Given the description of an element on the screen output the (x, y) to click on. 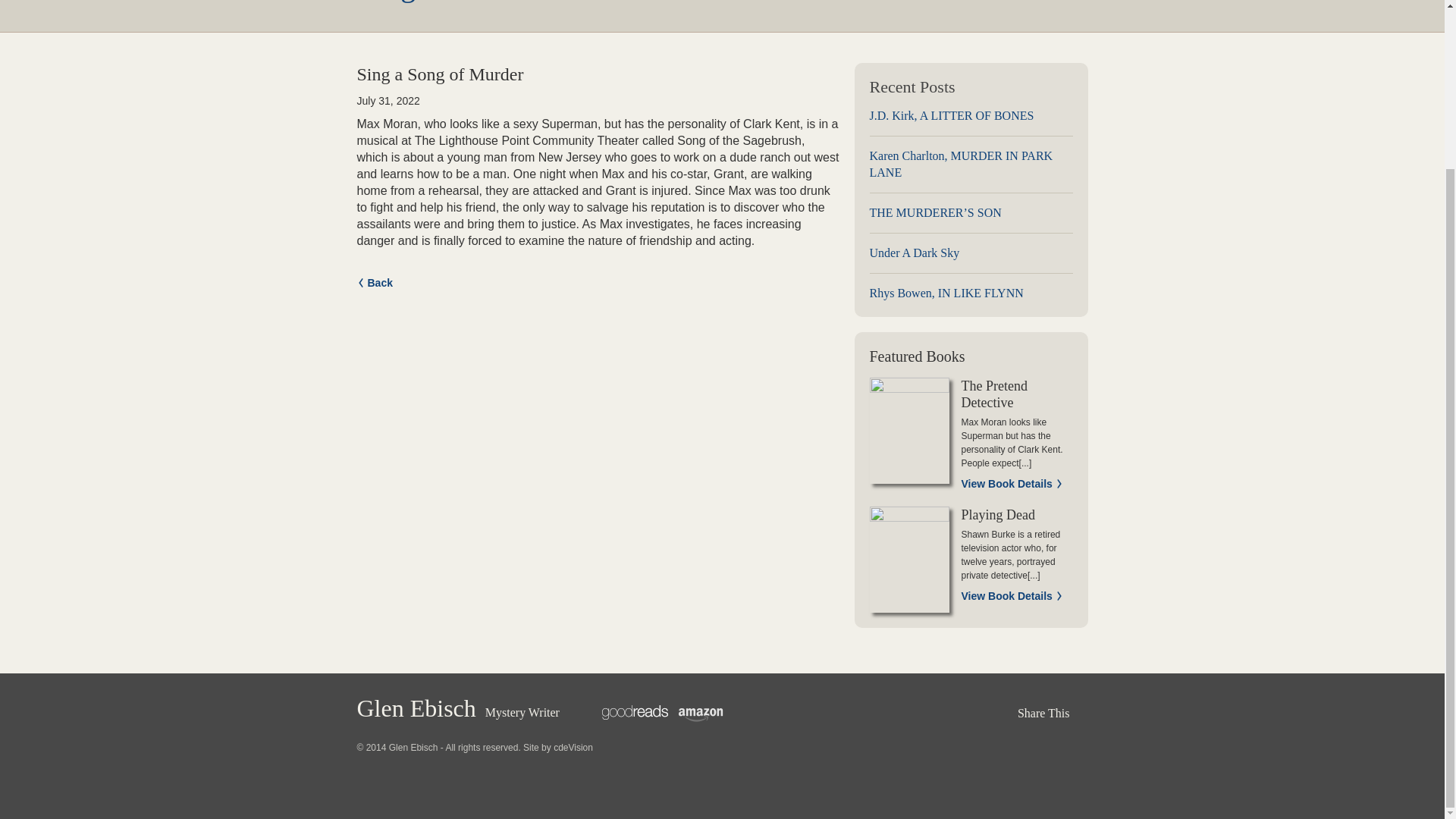
Facebook (833, 712)
Back (373, 282)
View Book Details (1011, 595)
Glen EbischMystery Writer (457, 710)
Goodreads (634, 712)
View Book Details (1011, 483)
cdeVision (572, 747)
Karen Charlton, MURDER IN PARK LANE (970, 164)
J.D. Kirk, A LITTER OF BONES (970, 116)
Rhys Bowen, IN LIKE FLYNN (970, 287)
